Given the description of an element on the screen output the (x, y) to click on. 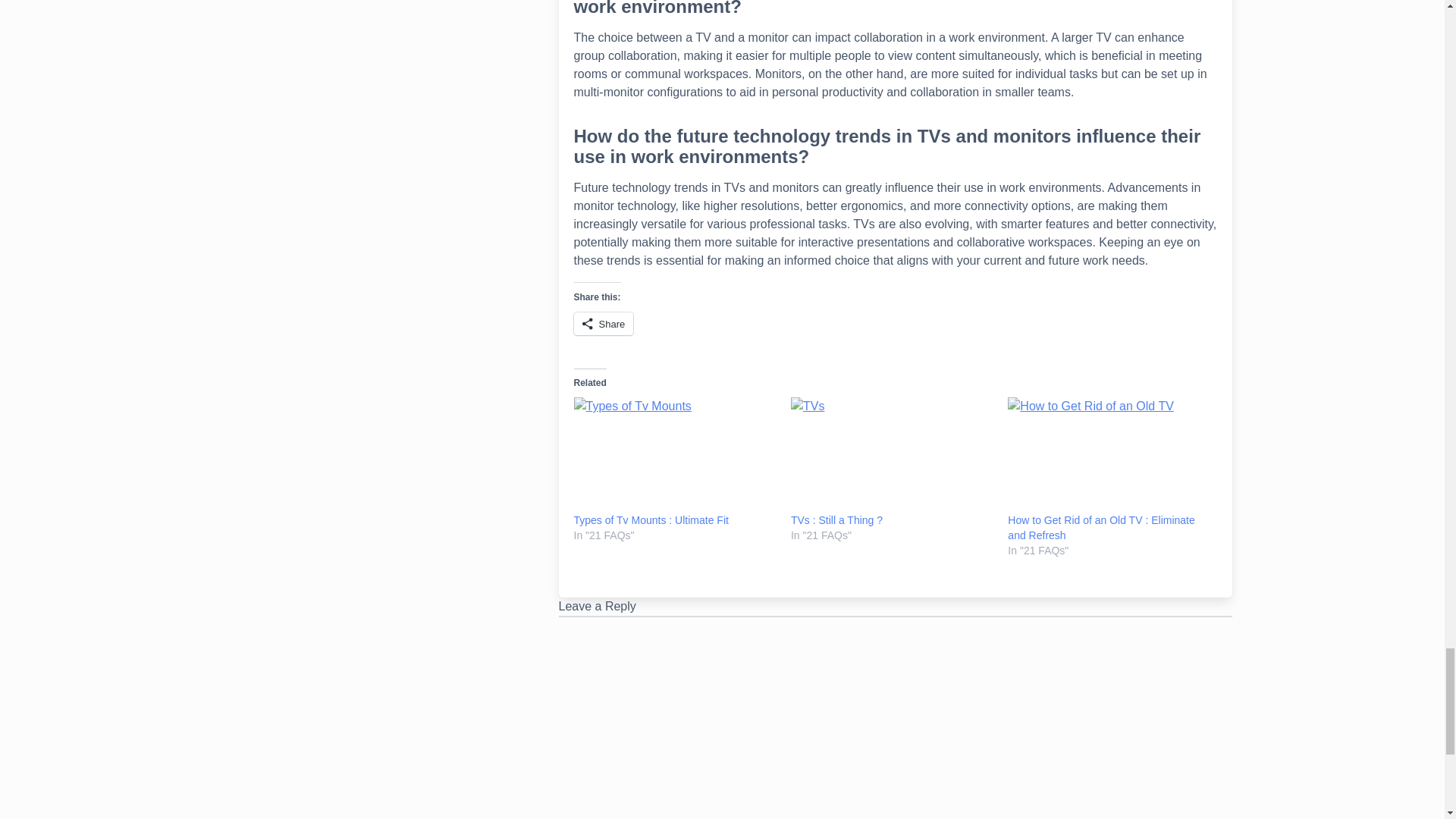
Share (603, 323)
Types of Tv Mounts : Ultimate Fit (651, 520)
How to Get Rid of an Old TV : Eliminate and Refresh (1100, 527)
TVs : Still a Thing ? (836, 520)
